Given the description of an element on the screen output the (x, y) to click on. 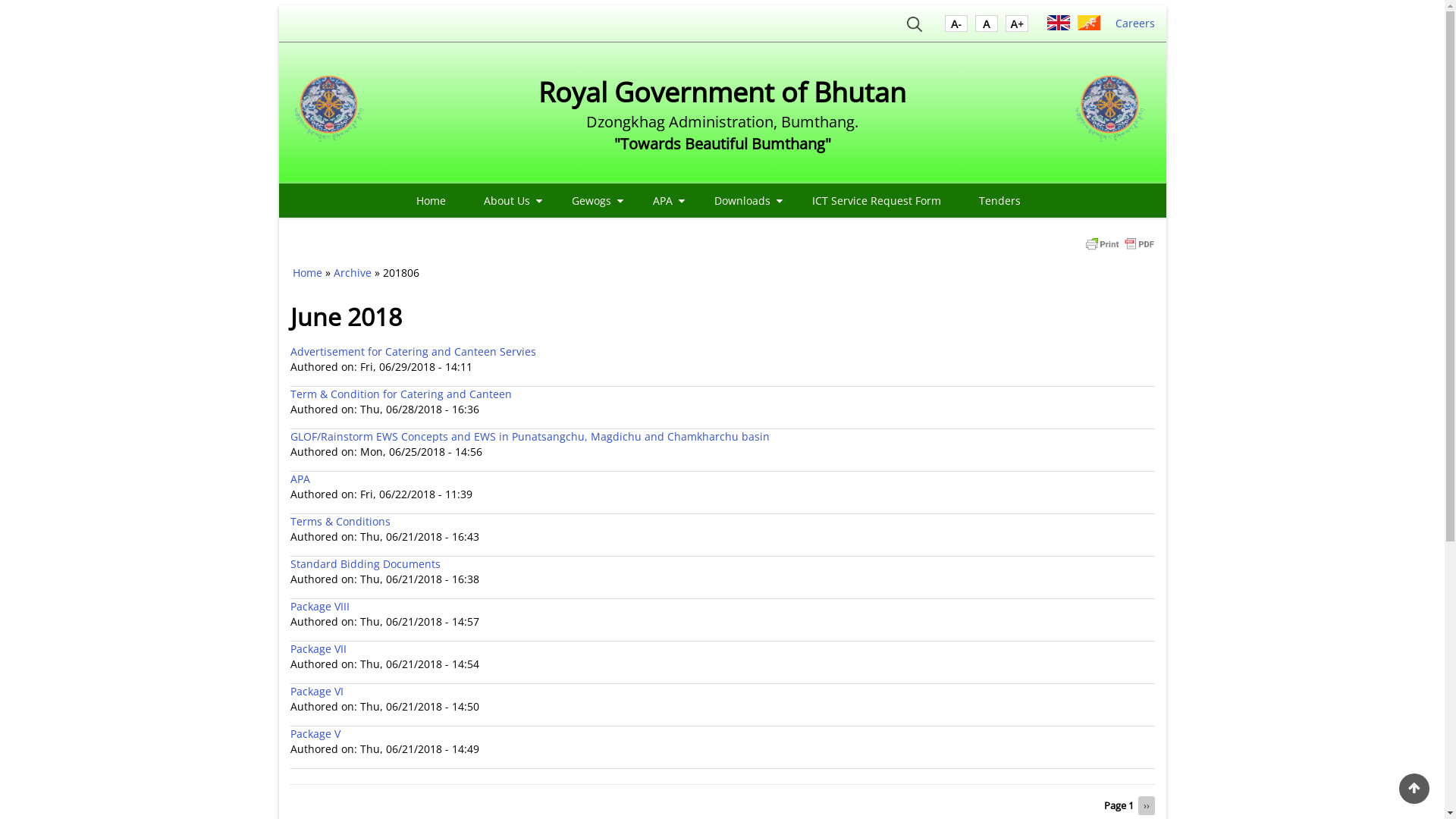
Home Element type: hover (1112, 112)
Printer Friendly, PDF & Email Element type: hover (1119, 242)
Home Element type: text (431, 200)
A Element type: text (986, 26)
Back to Top Element type: hover (1414, 788)
Standard Bidding Documents Element type: text (364, 563)
Term & Condition for Catering and Canteen Element type: text (400, 393)
Advertisement for Catering and Canteen Servies Element type: text (412, 351)
ICT Service Request Form Element type: text (876, 200)
APA Element type: text (299, 478)
About Us Element type: text (508, 200)
Package VI Element type: text (315, 691)
Royal Government of Bhutan Element type: text (722, 91)
APA Element type: text (664, 200)
A Element type: text (955, 26)
Terms & Conditions Element type: text (339, 521)
Archive Element type: text (352, 272)
Downloads Element type: text (744, 200)
Gewogs Element type: text (593, 200)
Home Element type: text (307, 272)
Search Element type: text (914, 26)
Package VIII Element type: text (318, 606)
Package V Element type: text (314, 733)
Tenders Element type: text (999, 200)
Careers Element type: text (1134, 22)
Package VII Element type: text (317, 648)
A Element type: text (1016, 26)
Home Element type: hover (331, 112)
Skip to main content Element type: text (0, 0)
